Given the description of an element on the screen output the (x, y) to click on. 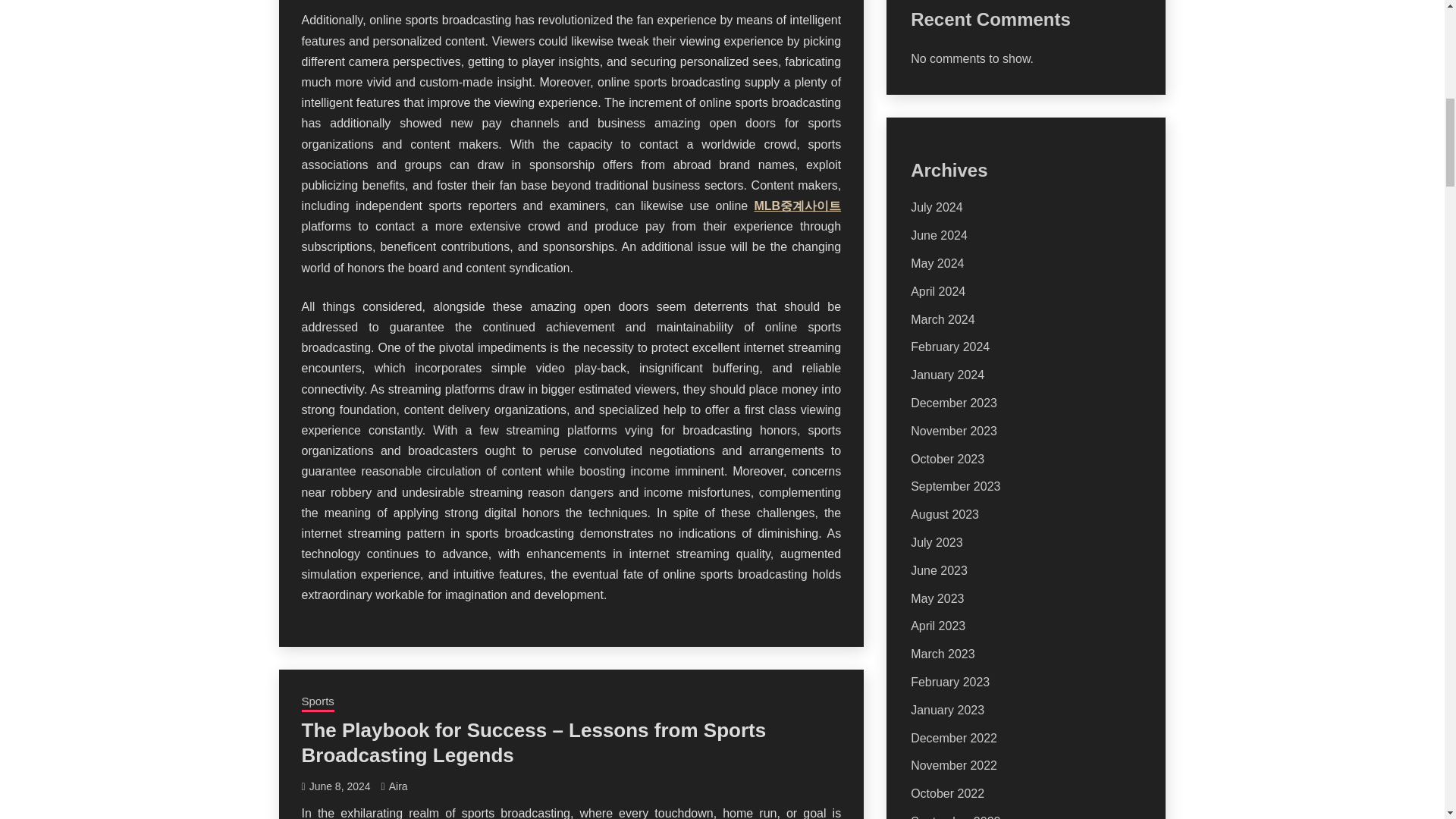
June 8, 2024 (339, 786)
Aira (397, 786)
Sports (317, 702)
